Given the description of an element on the screen output the (x, y) to click on. 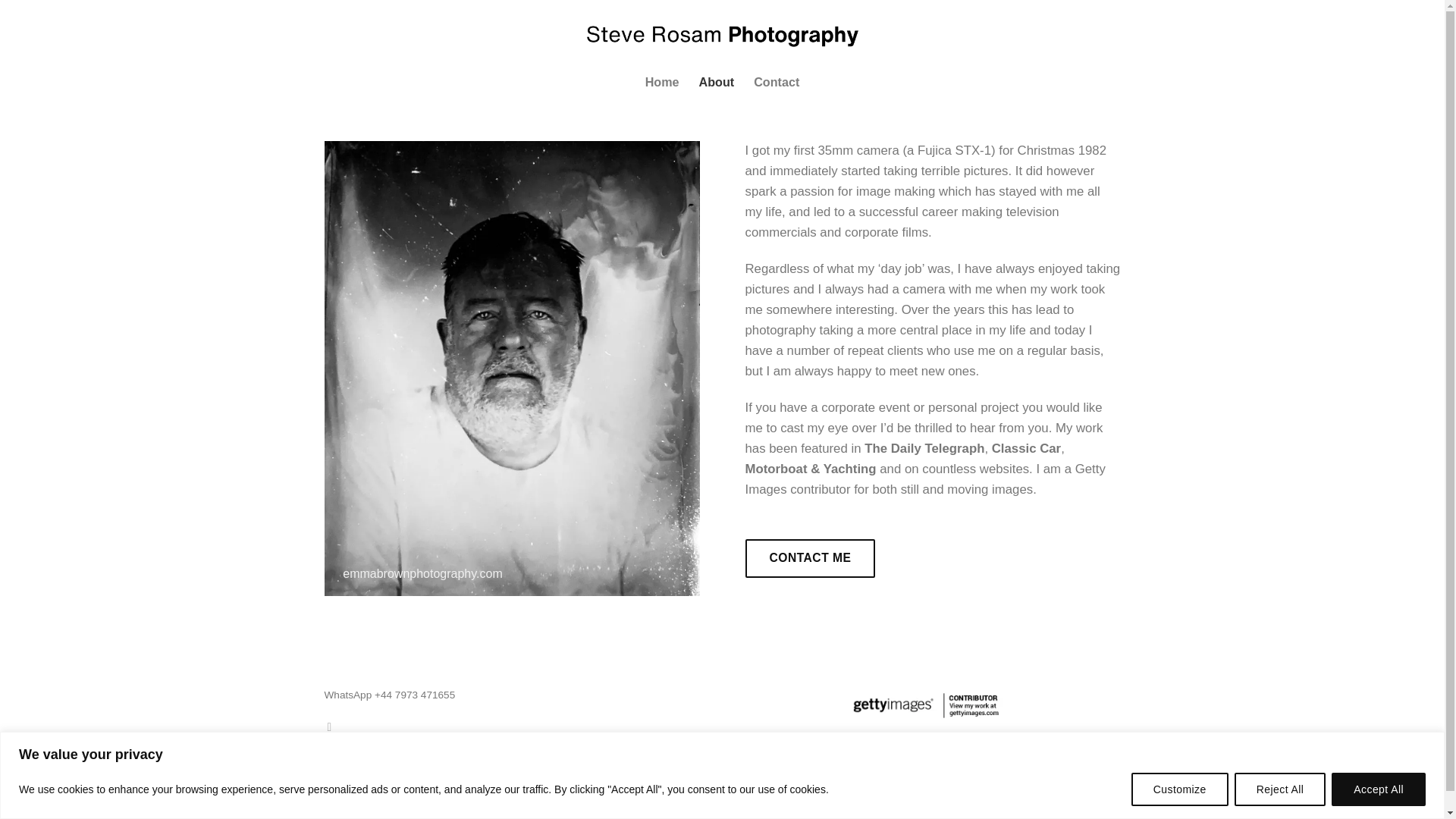
Accept All (1378, 788)
Follow on Instagram (332, 726)
Steve Rosam Photography (722, 33)
About (716, 81)
Designed by SmallBizSites (392, 814)
Reject All (1280, 788)
CONTACT ME (809, 557)
Customize (1179, 788)
Privacy Policy (596, 798)
Contact (776, 81)
